Given the description of an element on the screen output the (x, y) to click on. 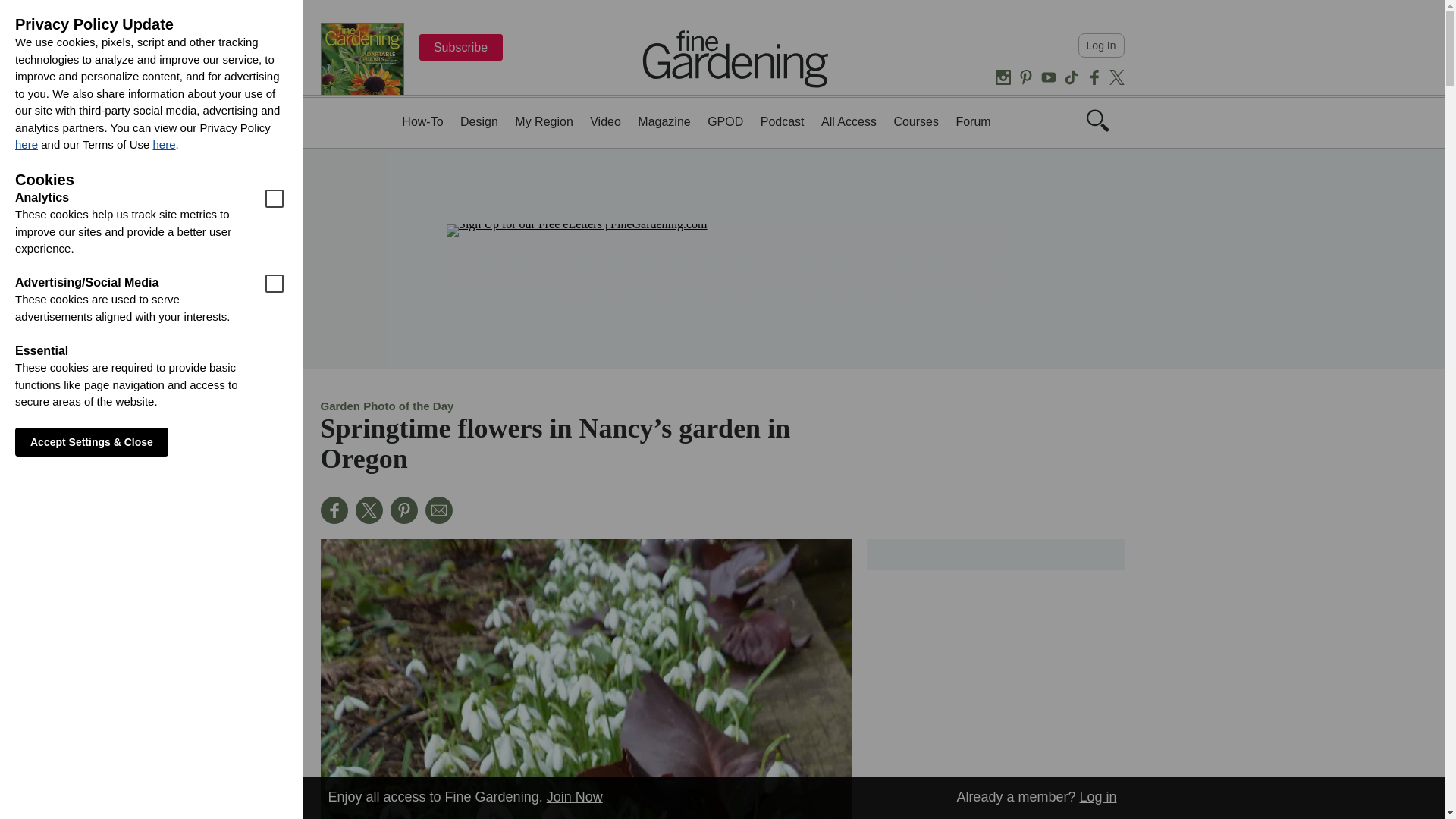
Podcast (782, 121)
Fine Gardening (735, 58)
Facebook (1093, 77)
Twitter (1116, 77)
TikTok (1070, 77)
Magazine (663, 121)
Forum (972, 121)
Video (605, 121)
Design (478, 121)
3rd party ad content (721, 258)
Instragram (1002, 77)
YouTube (1048, 77)
Garden Photo of the Day (386, 405)
How-To (421, 121)
All Access (848, 121)
